Given the description of an element on the screen output the (x, y) to click on. 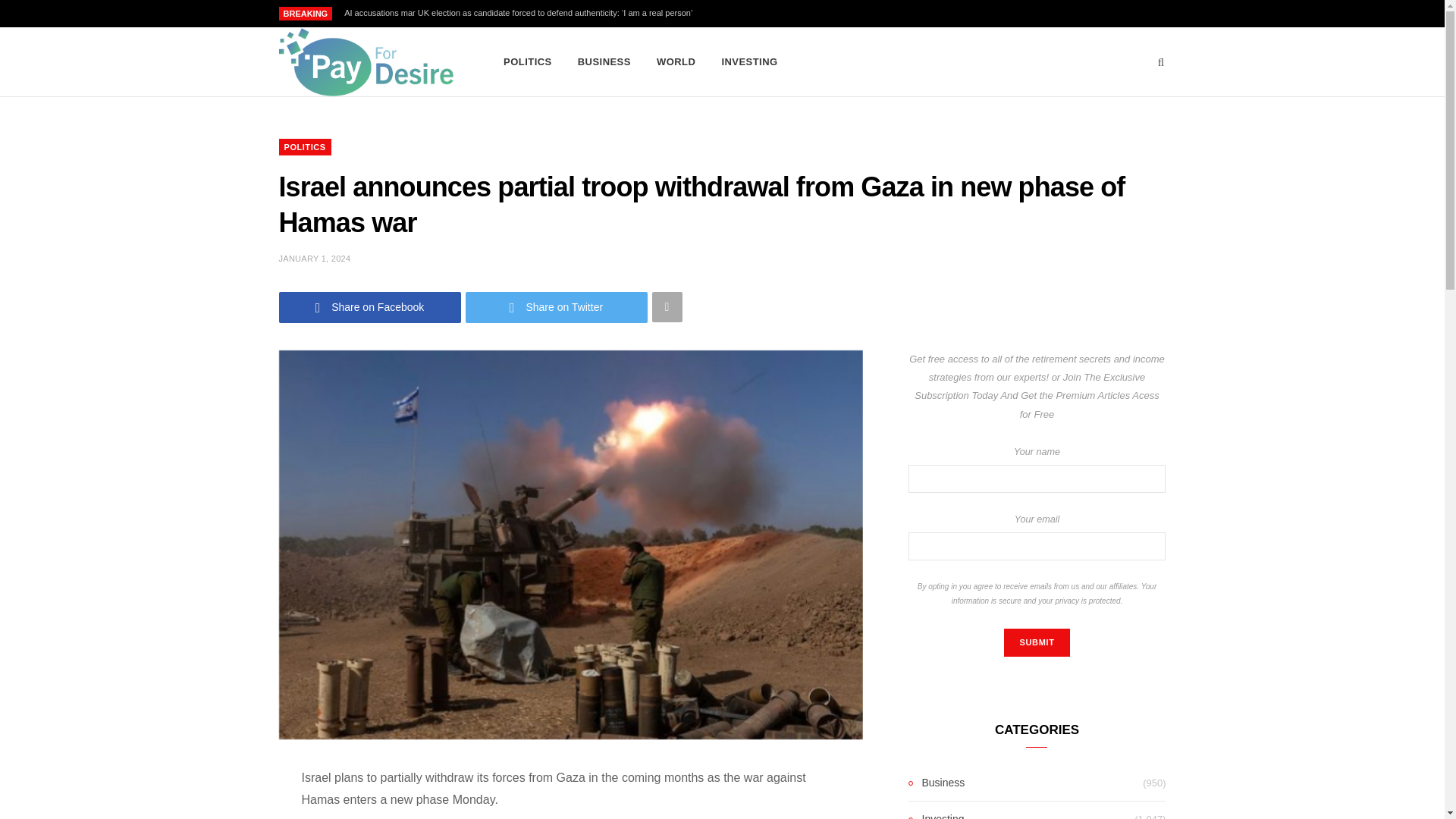
Pay For Desire (366, 61)
Share on Facebook (370, 306)
Share on Facebook (370, 306)
POLITICS (305, 146)
JANUARY 1, 2024 (314, 257)
POLITICS (527, 61)
WORLD (675, 61)
Share on Twitter (556, 306)
BUSINESS (604, 61)
Submit (1036, 642)
Share on Twitter (556, 306)
INVESTING (749, 61)
